Given the description of an element on the screen output the (x, y) to click on. 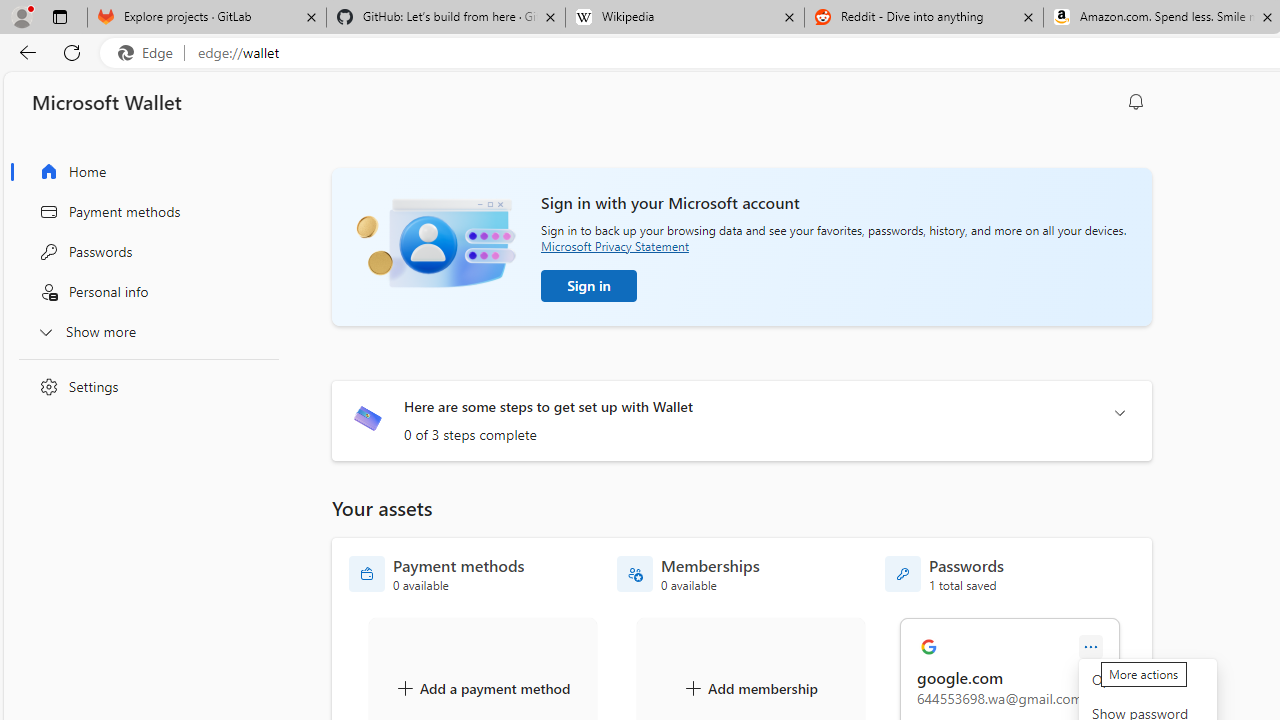
Edge (150, 53)
Passwords - 1 total saved (944, 573)
Show more (143, 331)
Microsoft Privacy Statement (614, 246)
Reddit - Dive into anything (924, 17)
